Given the description of an element on the screen output the (x, y) to click on. 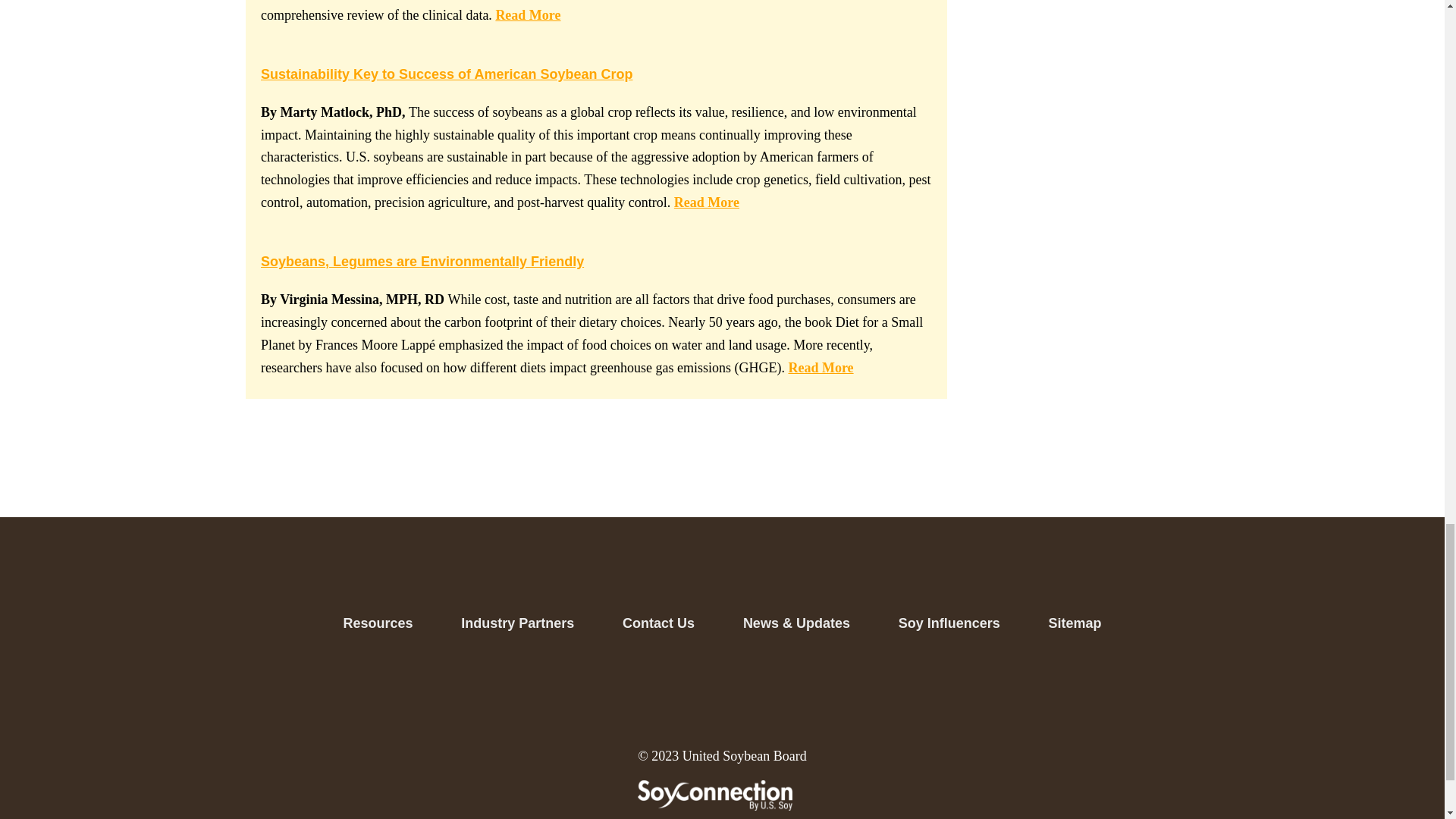
Sustainability Key to Success of American Soybean Crop (445, 73)
Read More (820, 367)
Read More (527, 14)
Read More (706, 201)
Soybeans, Legumes are Environmentally Friendly (421, 261)
